Given the description of an element on the screen output the (x, y) to click on. 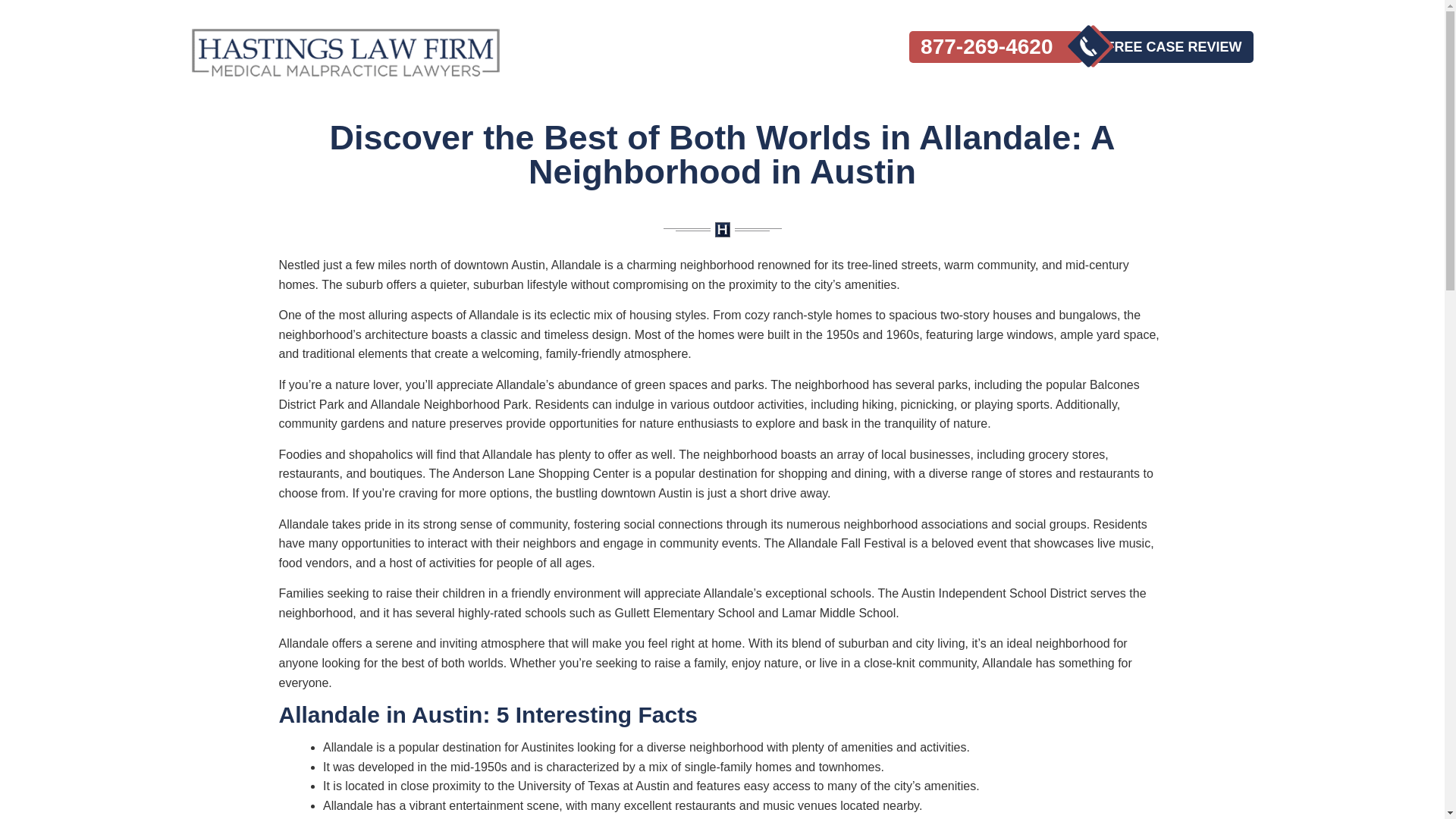
Medmal Seperator (721, 229)
Hastings Law Firm Logo (344, 52)
877-269-4620 (995, 47)
